Given the description of an element on the screen output the (x, y) to click on. 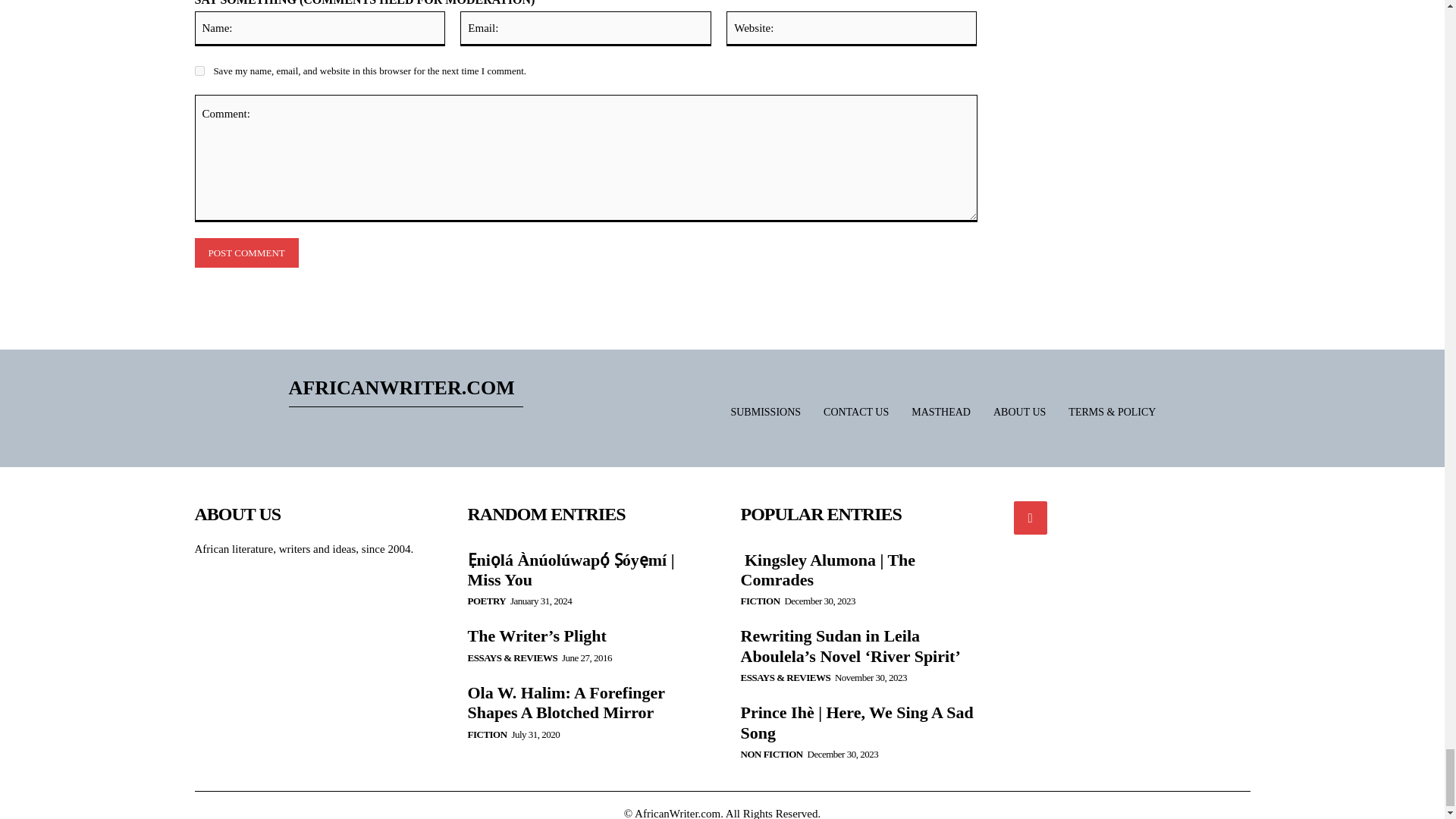
Post Comment (245, 252)
yes (198, 71)
